Given the description of an element on the screen output the (x, y) to click on. 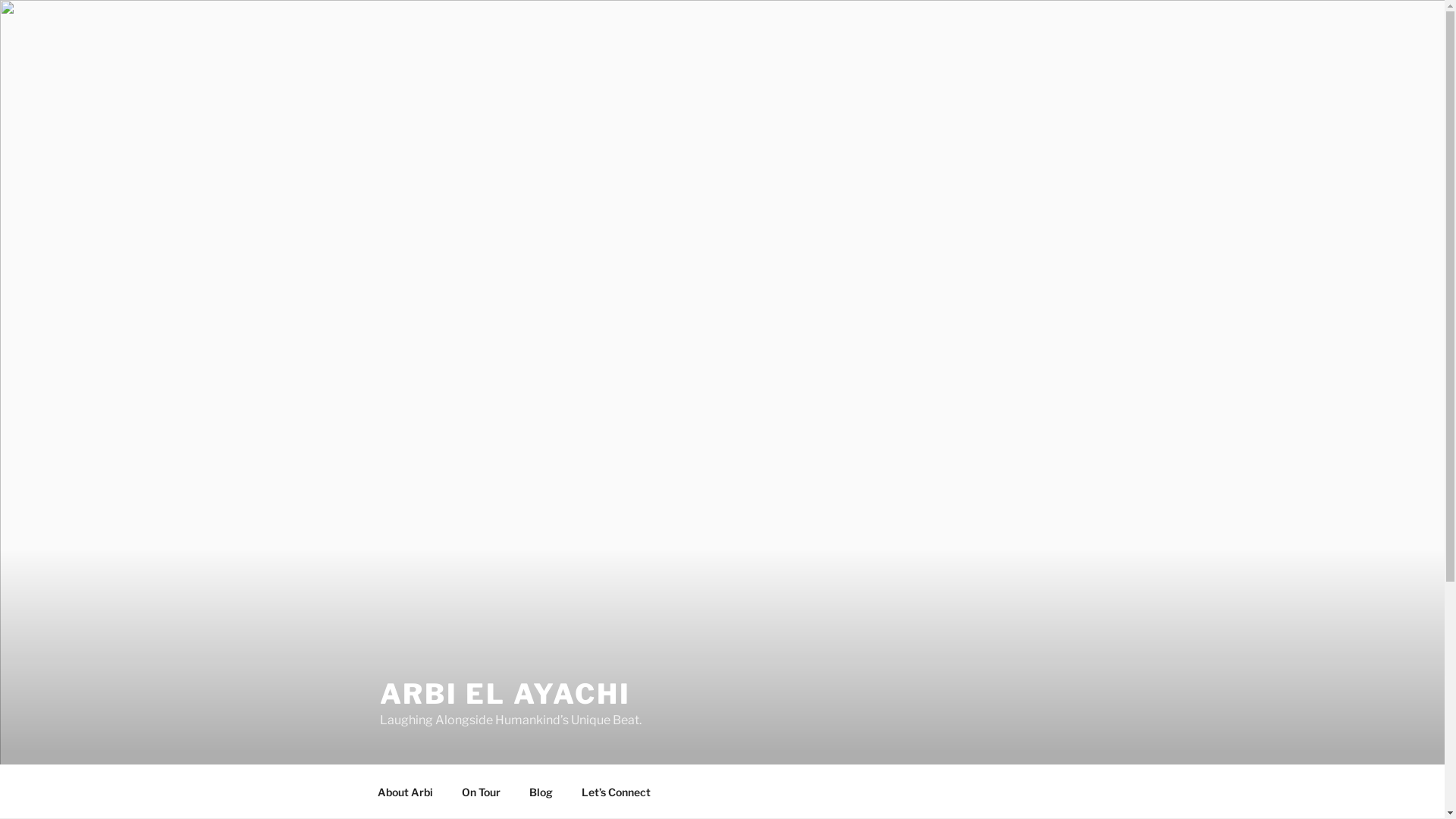
On Tour Element type: text (481, 791)
About Arbi Element type: text (404, 791)
Blog Element type: text (540, 791)
ARBI EL AYACHI Element type: text (504, 693)
